Given the description of an element on the screen output the (x, y) to click on. 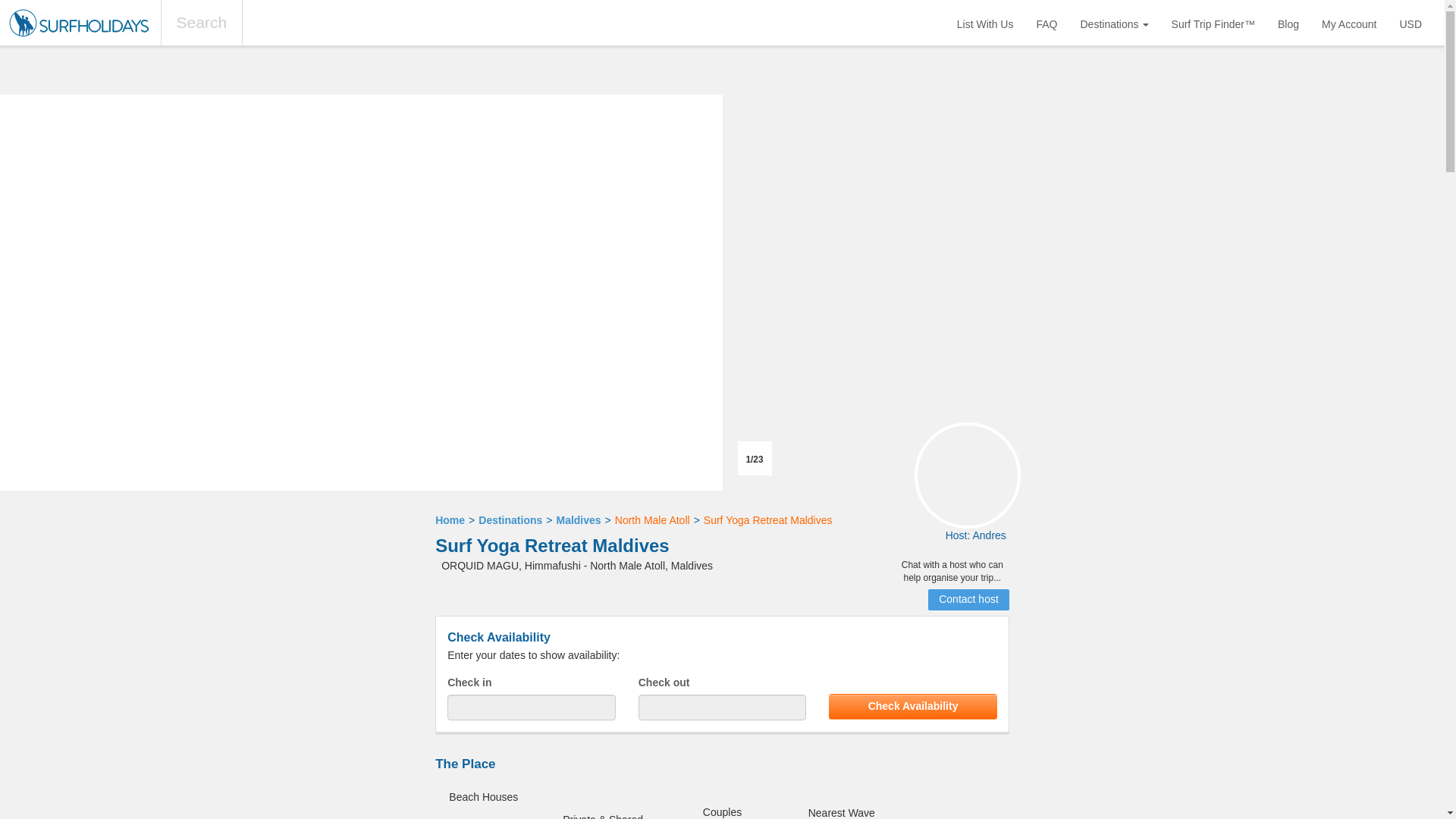
Destinations (1114, 22)
List With Us (984, 22)
Search (201, 22)
FAQ (1046, 22)
Check Availability (912, 706)
